Given the description of an element on the screen output the (x, y) to click on. 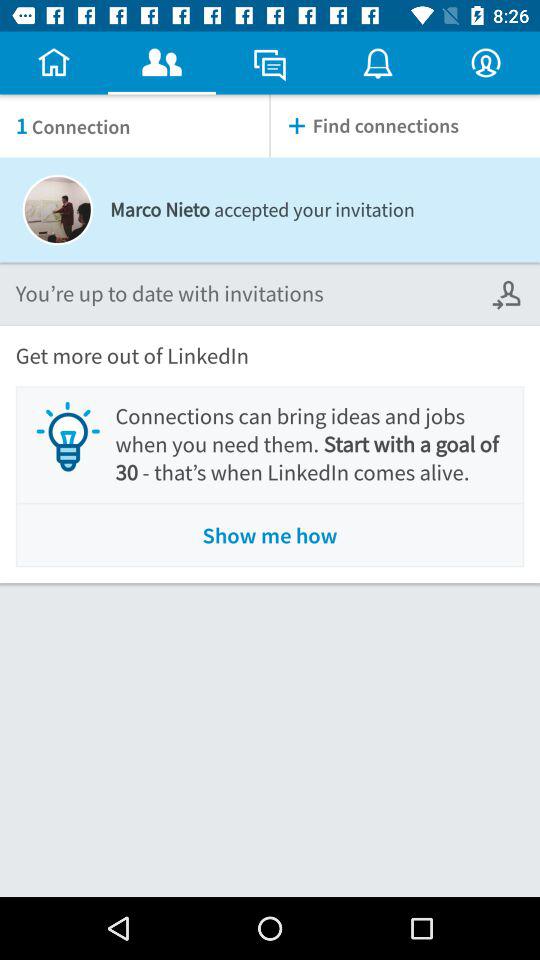
turn off icon above connections can bring (508, 293)
